Given the description of an element on the screen output the (x, y) to click on. 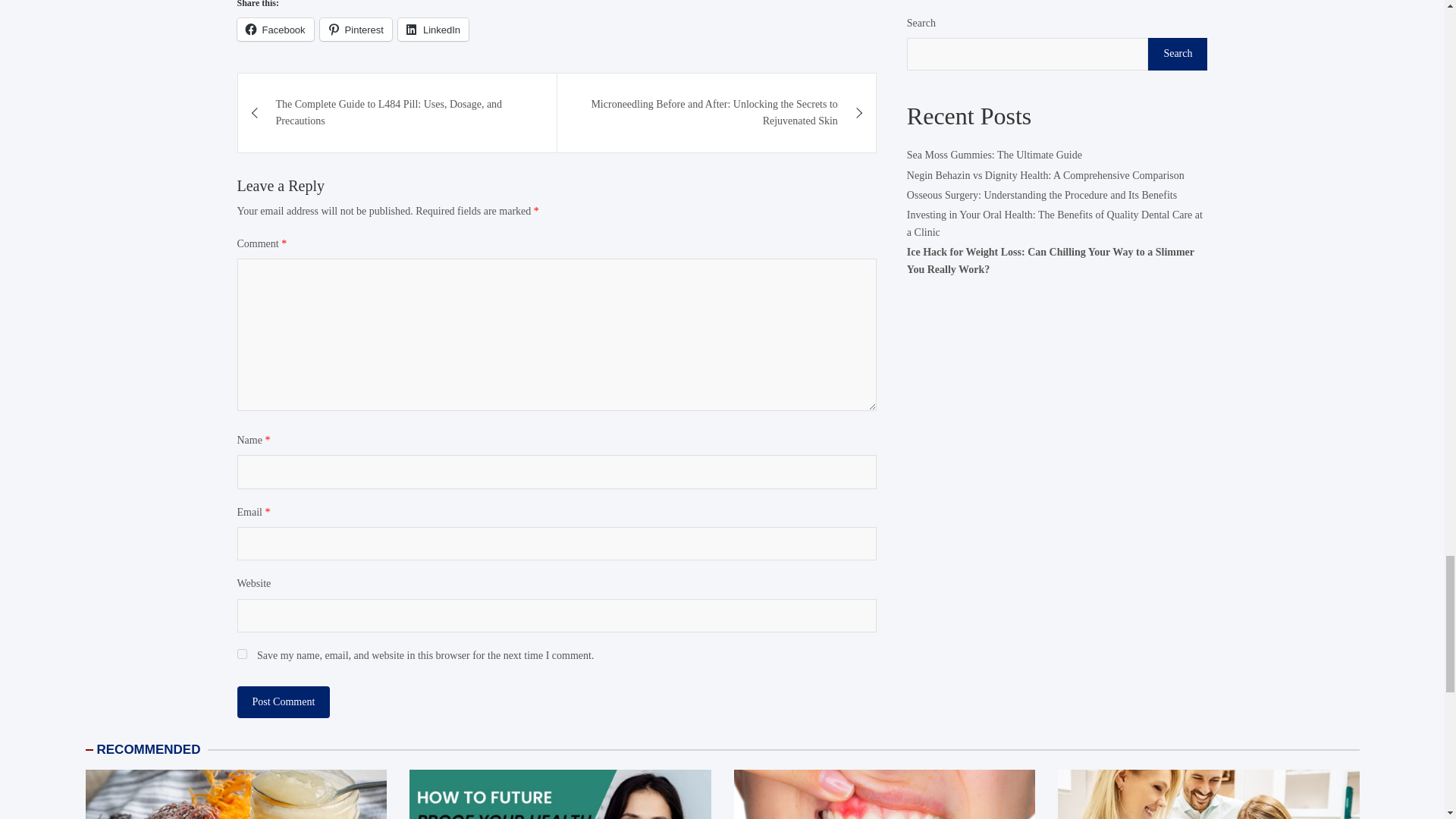
yes (240, 654)
Post Comment (282, 701)
